Given the description of an element on the screen output the (x, y) to click on. 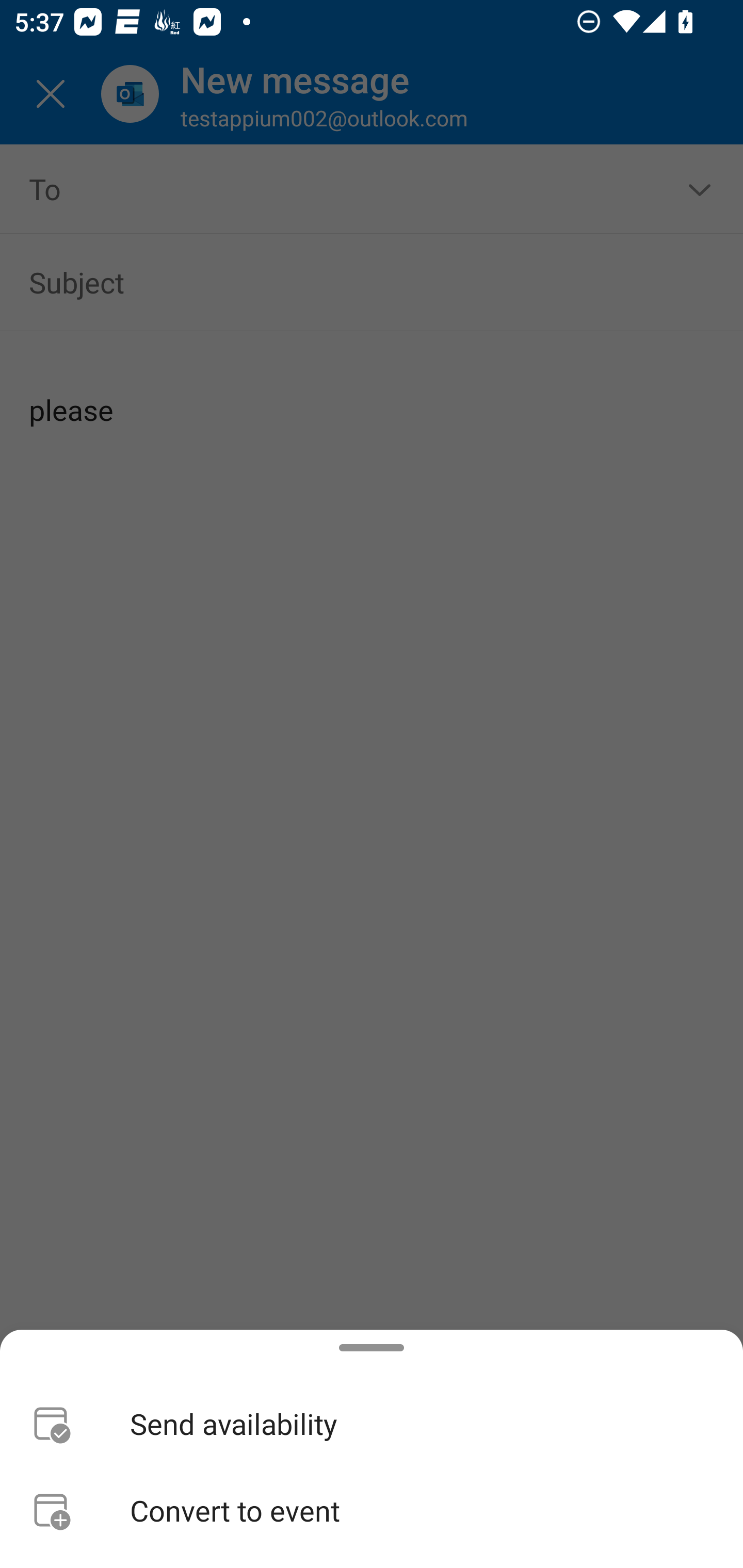
Send availability (371, 1423)
Convert to event (371, 1510)
